Given the description of an element on the screen output the (x, y) to click on. 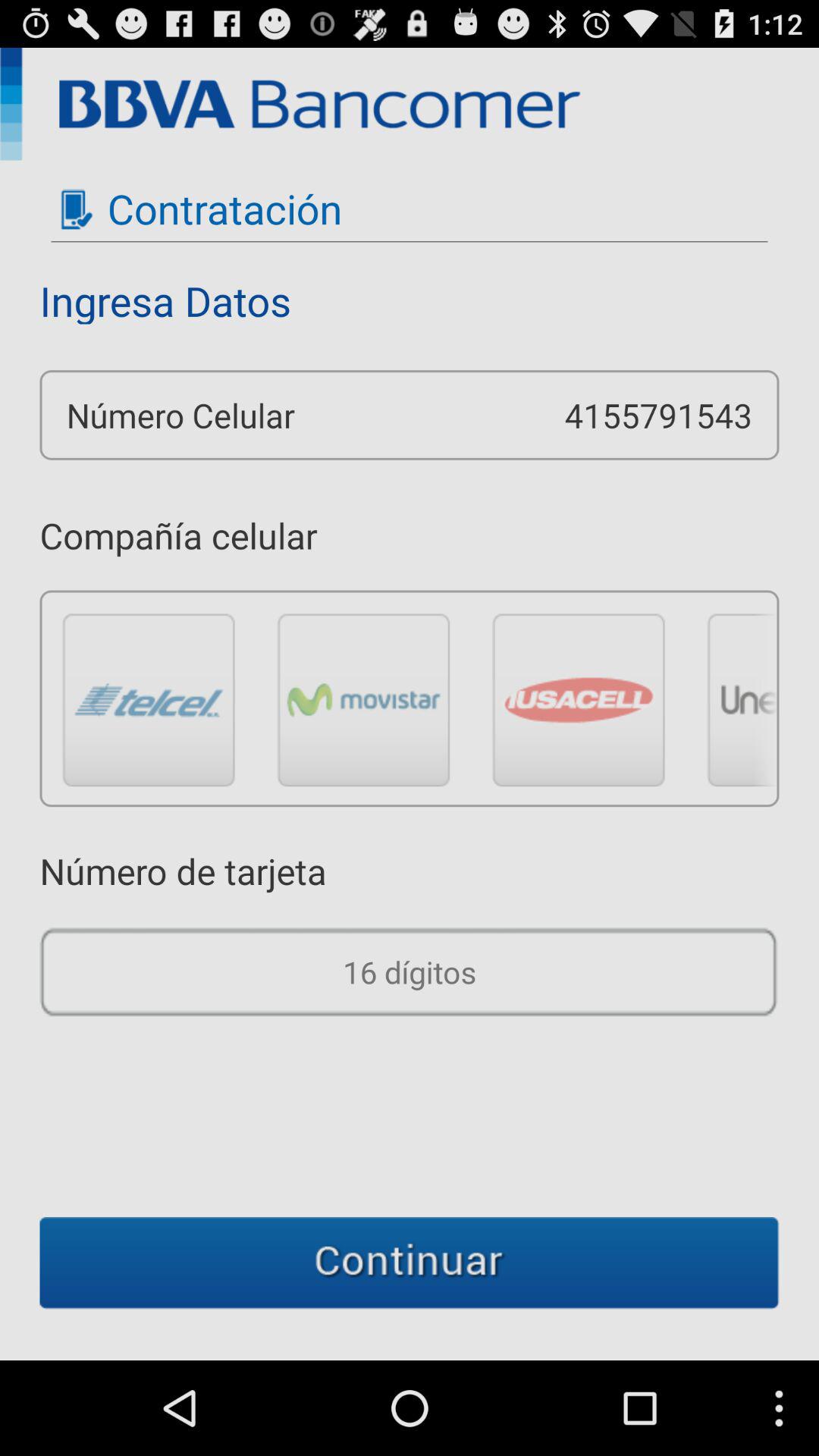
digitos option (409, 971)
